Given the description of an element on the screen output the (x, y) to click on. 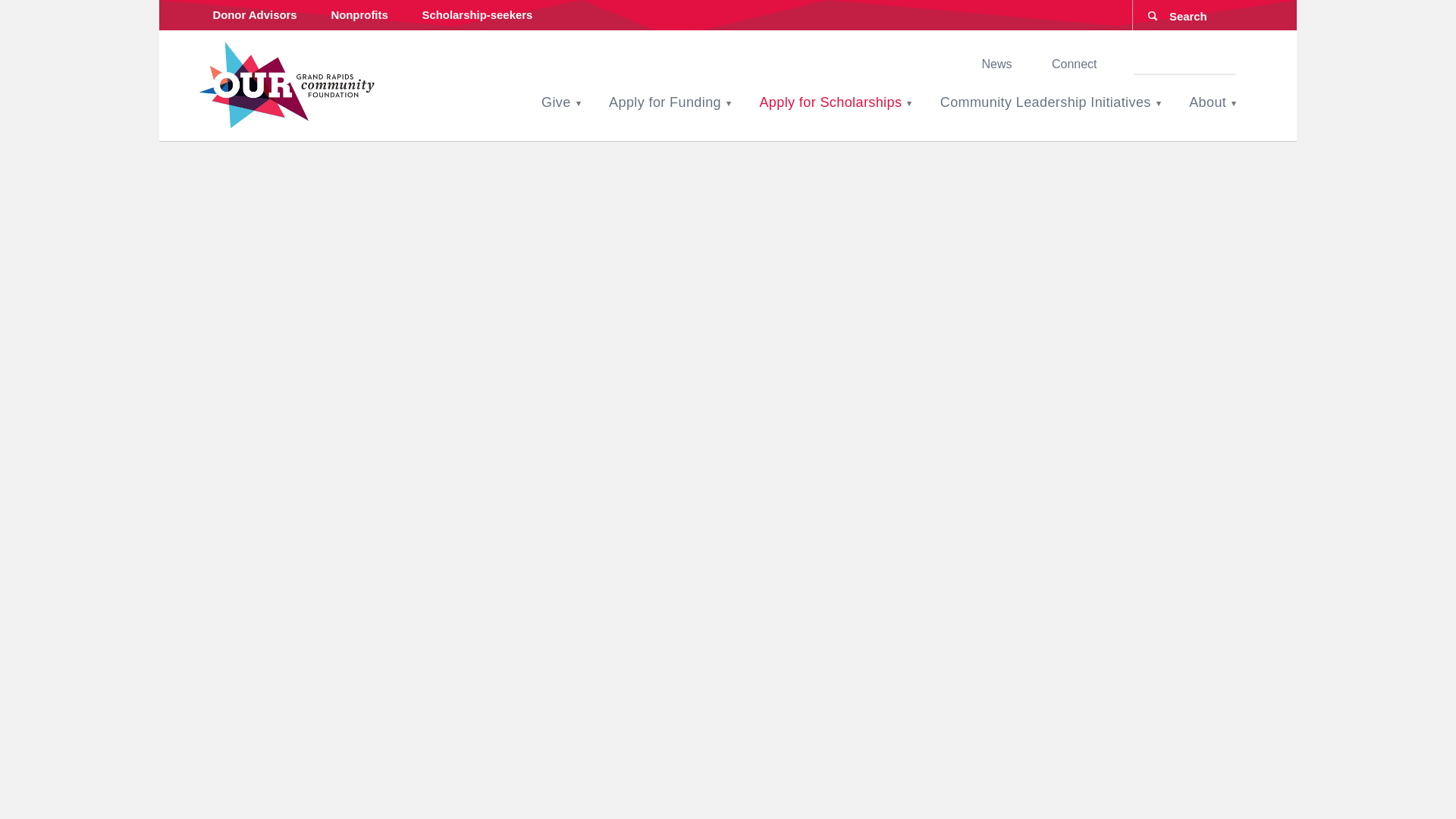
Nonprofits (359, 15)
Donor Advisors (254, 15)
Give (555, 102)
Scholarship-seekers (477, 15)
Apply for Scholarships (829, 102)
Community Leadership Initiatives (1045, 102)
About (1206, 102)
Search (25, 9)
Apply for Funding (664, 102)
